Given the description of an element on the screen output the (x, y) to click on. 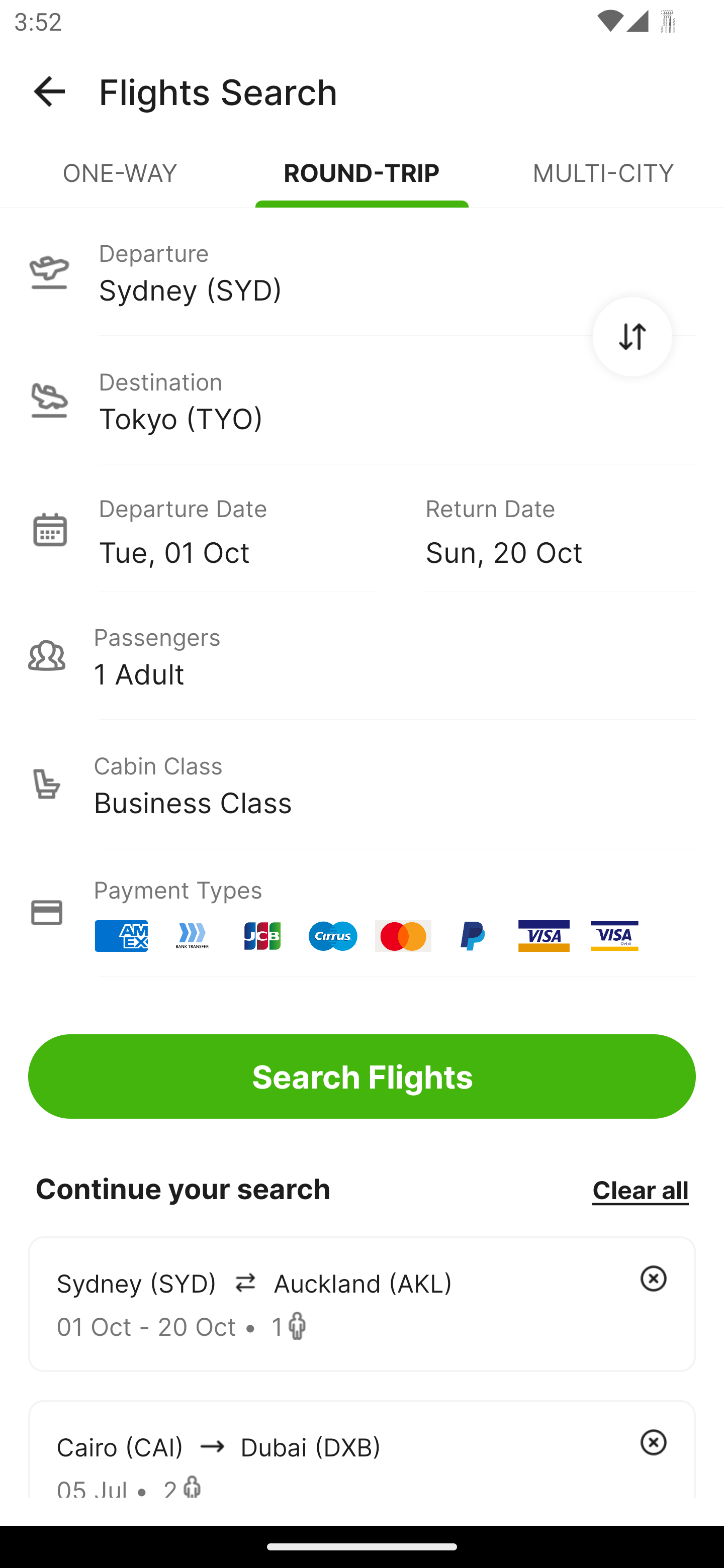
ONE-WAY (120, 180)
ROUND-TRIP (361, 180)
MULTI-CITY (603, 180)
Departure Sydney (SYD) (362, 270)
Destination Tokyo (TYO) (362, 400)
Departure Date Tue, 01 Oct (247, 528)
Return Date Sun, 20 Oct (546, 528)
Passengers 1 Adult (362, 655)
Cabin Class Business Class (362, 783)
Payment Types (362, 912)
Search Flights (361, 1075)
Clear all (640, 1189)
Cairo (CAI)  arrowIcon  Dubai (DXB) 05 Jul •  2  (361, 1448)
